Given the description of an element on the screen output the (x, y) to click on. 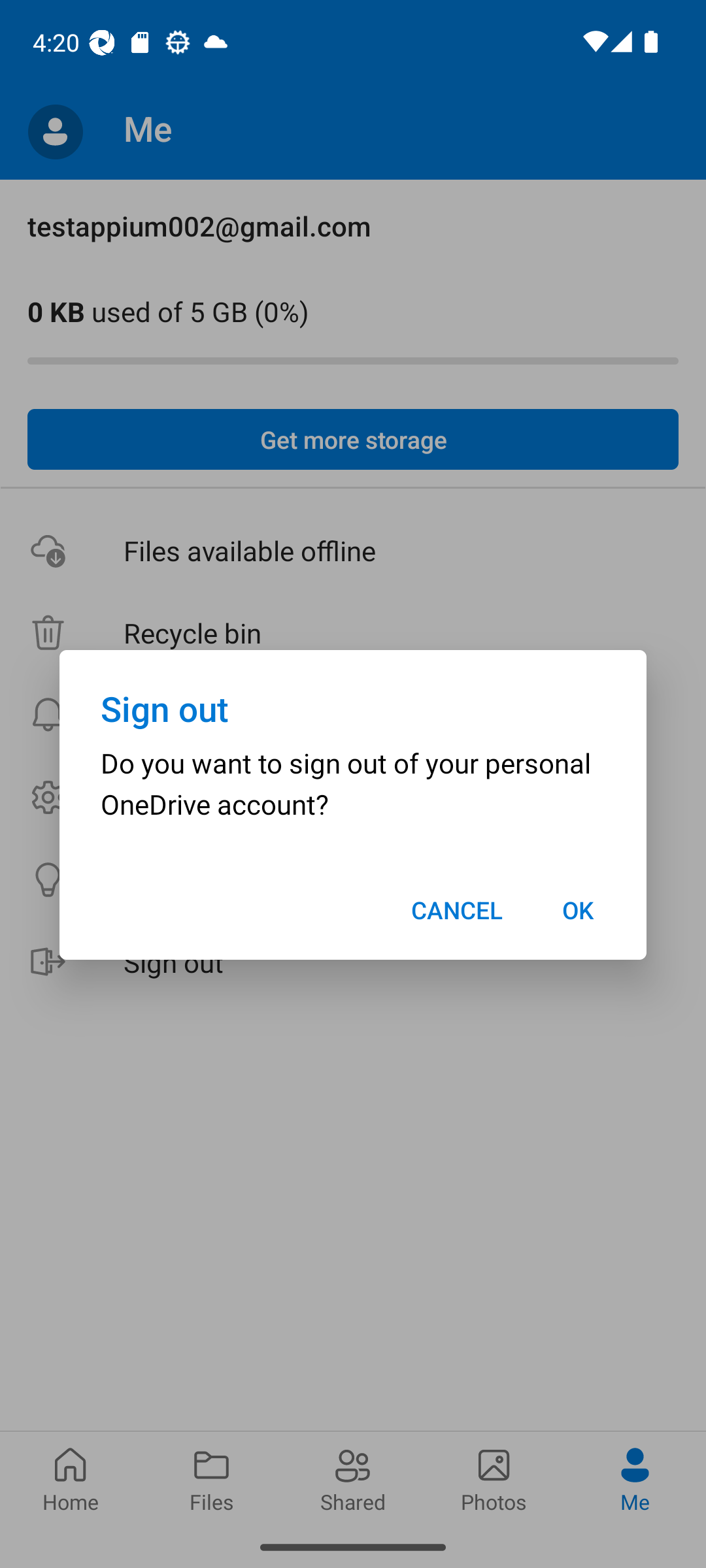
CANCEL (457, 909)
OK (577, 909)
